Given the description of an element on the screen output the (x, y) to click on. 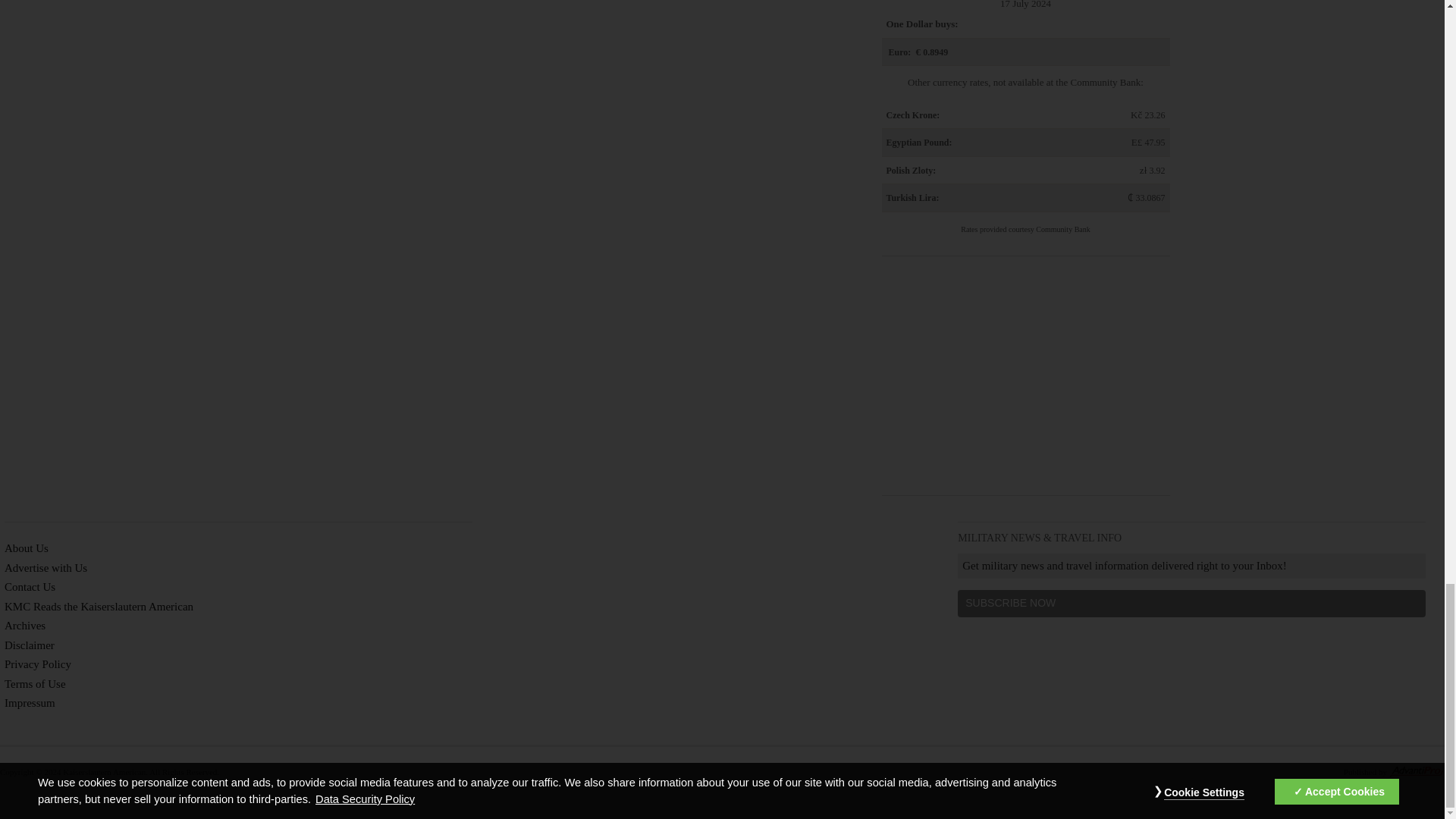
3rd party ad content (1024, 377)
